Given the description of an element on the screen output the (x, y) to click on. 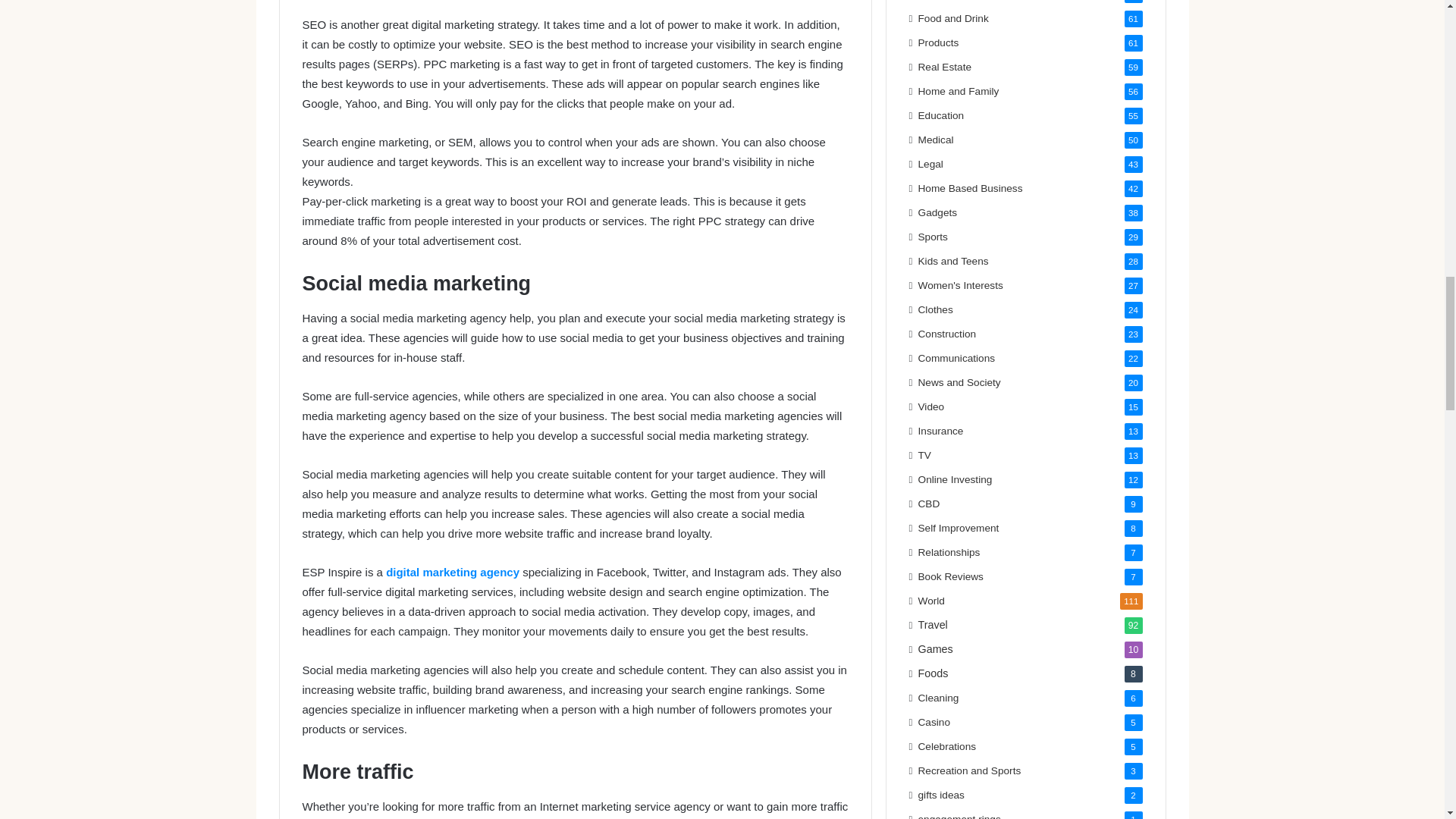
digital marketing agency (452, 571)
